Given the description of an element on the screen output the (x, y) to click on. 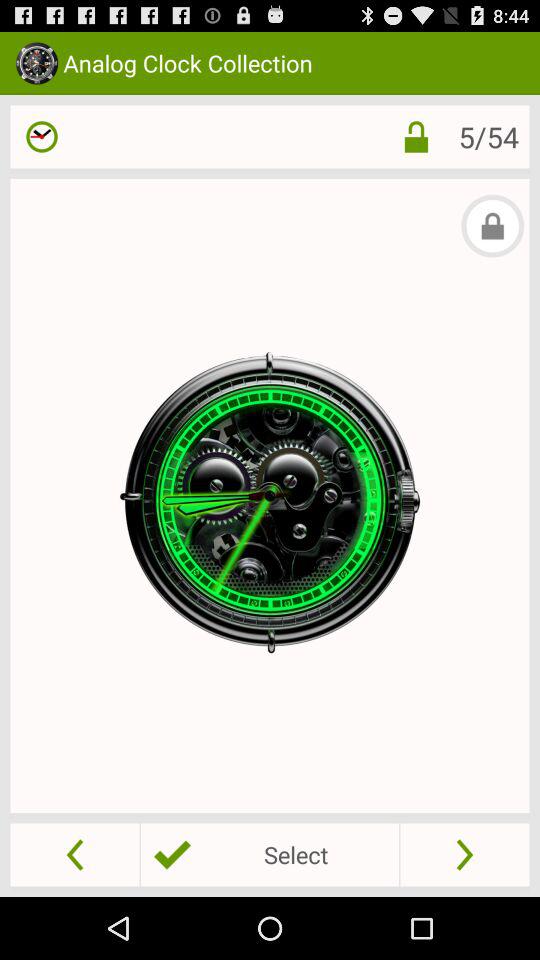
lock this choice (416, 136)
